Given the description of an element on the screen output the (x, y) to click on. 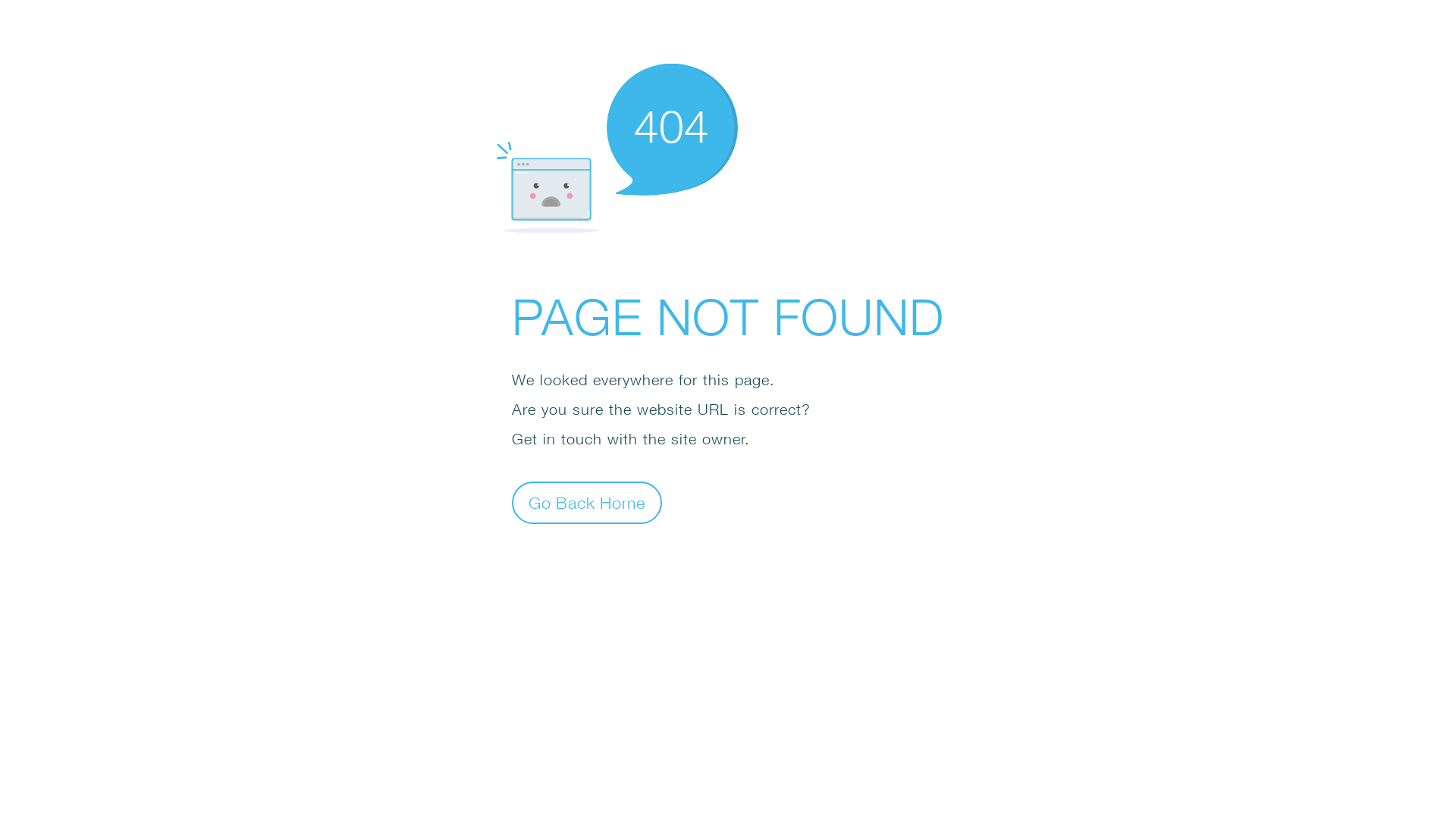
Go Back Home Element type: text (586, 502)
